Given the description of an element on the screen output the (x, y) to click on. 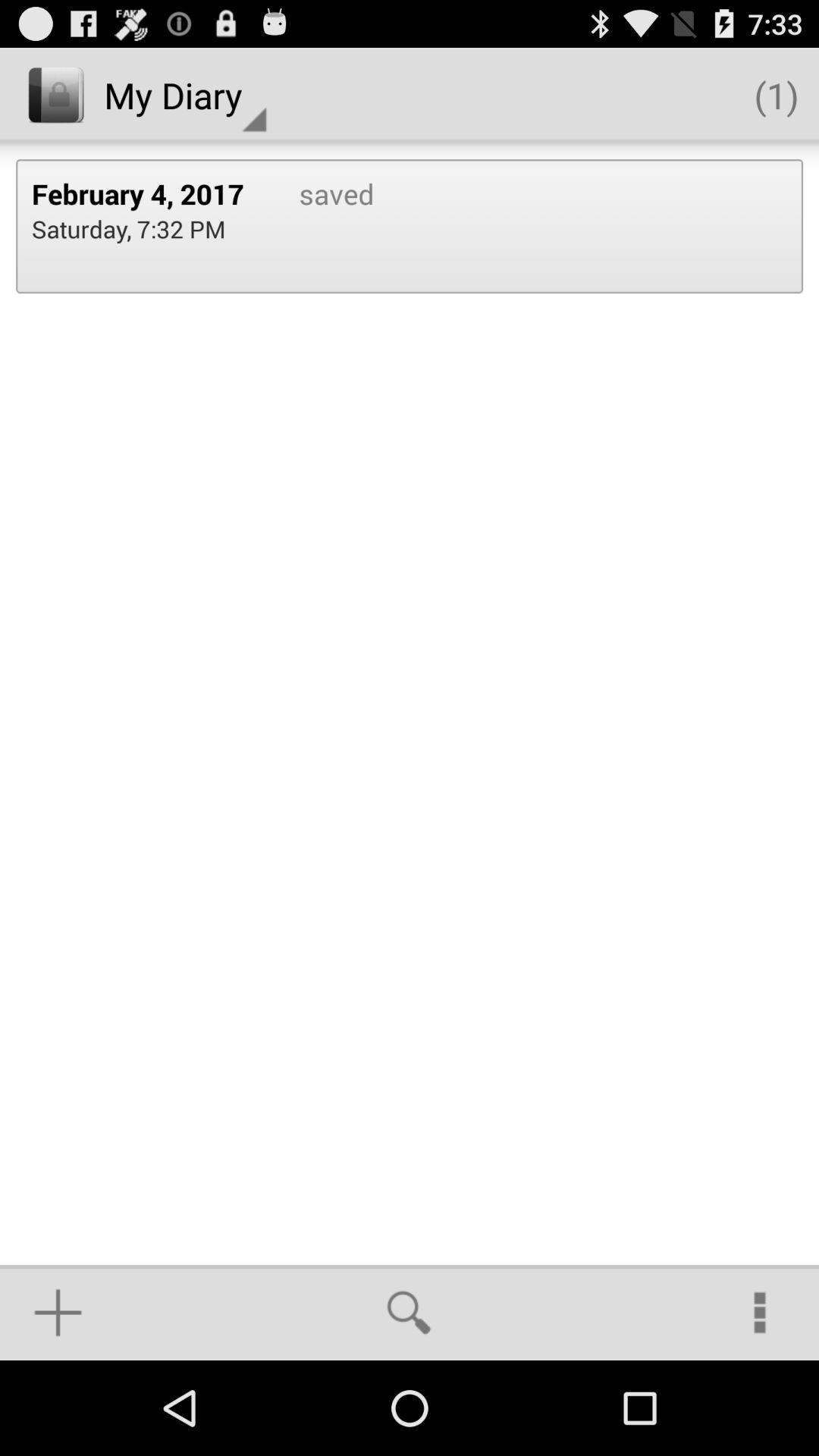
select icon above saturday 7 32 app (149, 193)
